Given the description of an element on the screen output the (x, y) to click on. 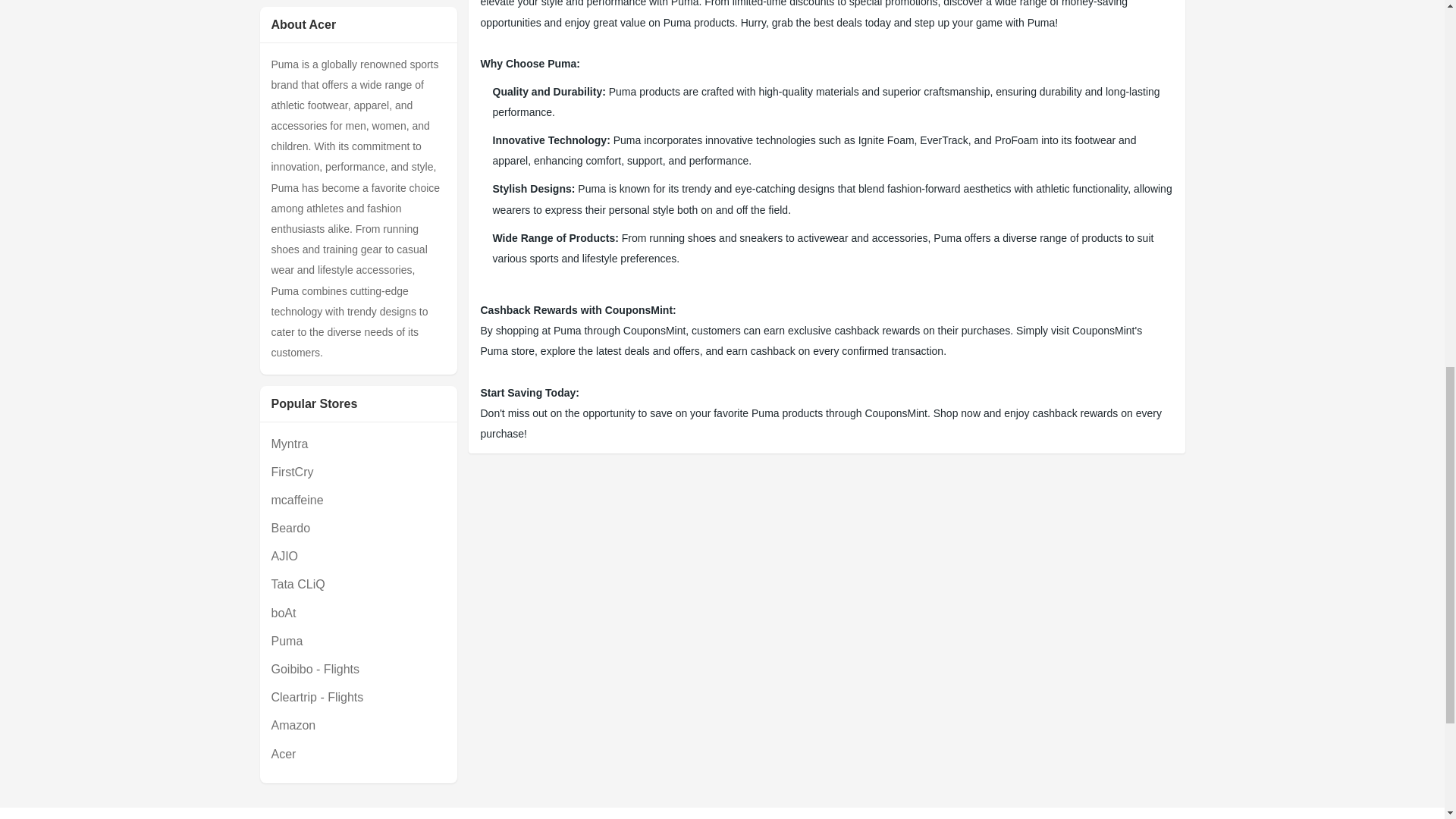
AJIO (357, 556)
Cleartrip - Flights (357, 697)
Amazon (357, 724)
Acer (357, 753)
Tata CLiQ (357, 584)
FirstCry (357, 471)
boAt (357, 612)
Beardo (357, 527)
Myntra (357, 444)
Goibibo - Flights (357, 669)
mcaffeine (357, 499)
Puma (357, 640)
